Given the description of an element on the screen output the (x, y) to click on. 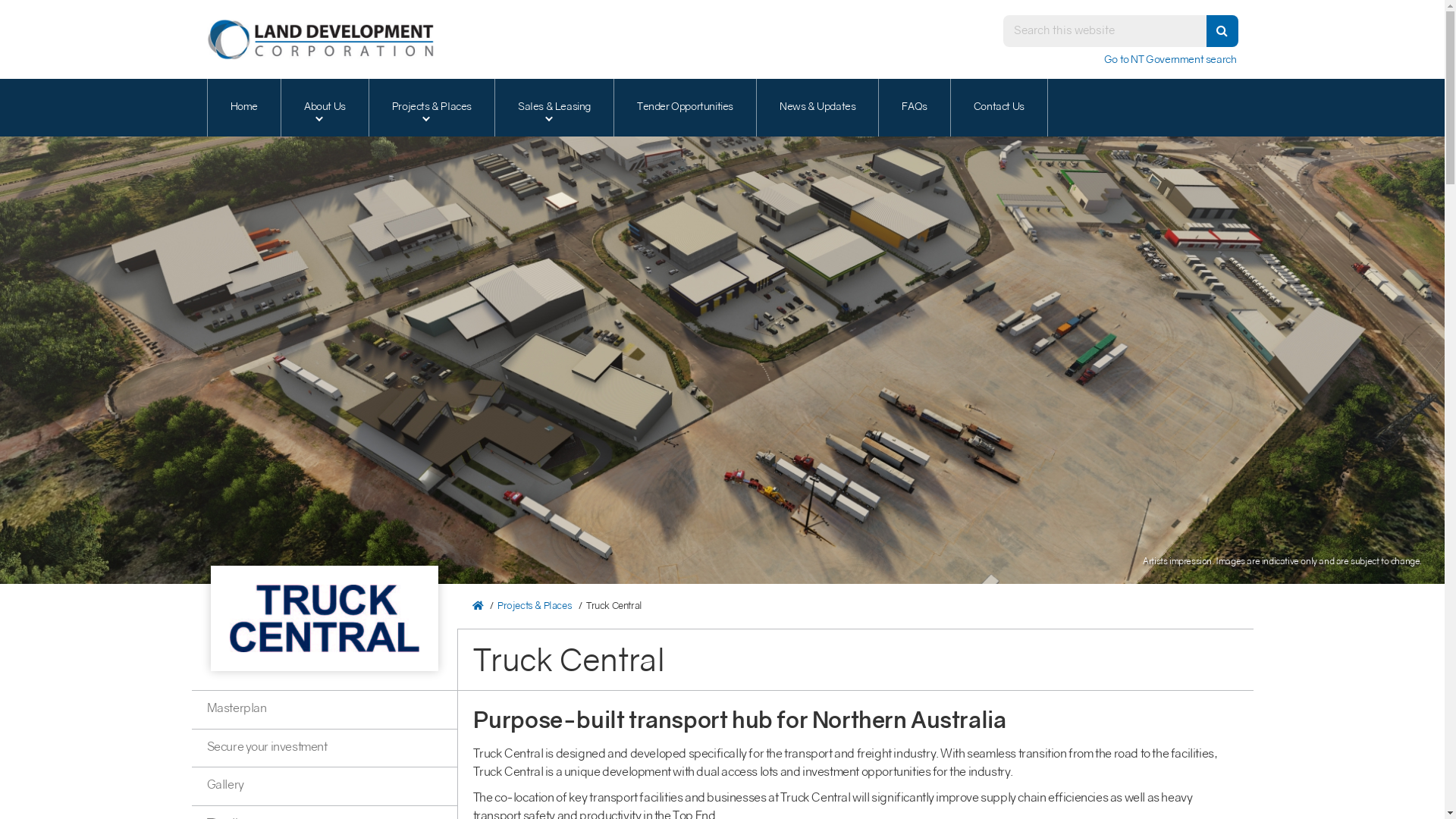
Secure your investment Element type: text (323, 748)
Contact Us Element type: text (998, 107)
FAQs Element type: text (913, 107)
Go to Land Development Corporation. Element type: hover (478, 606)
Search Element type: hover (1103, 31)
Go to NT Government search Element type: text (1170, 60)
Masterplan Element type: text (323, 709)
News & Updates Element type: text (817, 107)
Projects & Places Element type: text (431, 107)
ldc-logo-temp Element type: hover (319, 38)
Sales & Leasing Element type: text (553, 107)
TruckCentral_logo_Col_stack Element type: hover (323, 618)
Gallery Element type: text (323, 786)
About Us Element type: text (324, 107)
Projects & Places Element type: text (535, 606)
Home Element type: text (243, 107)
Tender Opportunities Element type: text (684, 107)
